Given the description of an element on the screen output the (x, y) to click on. 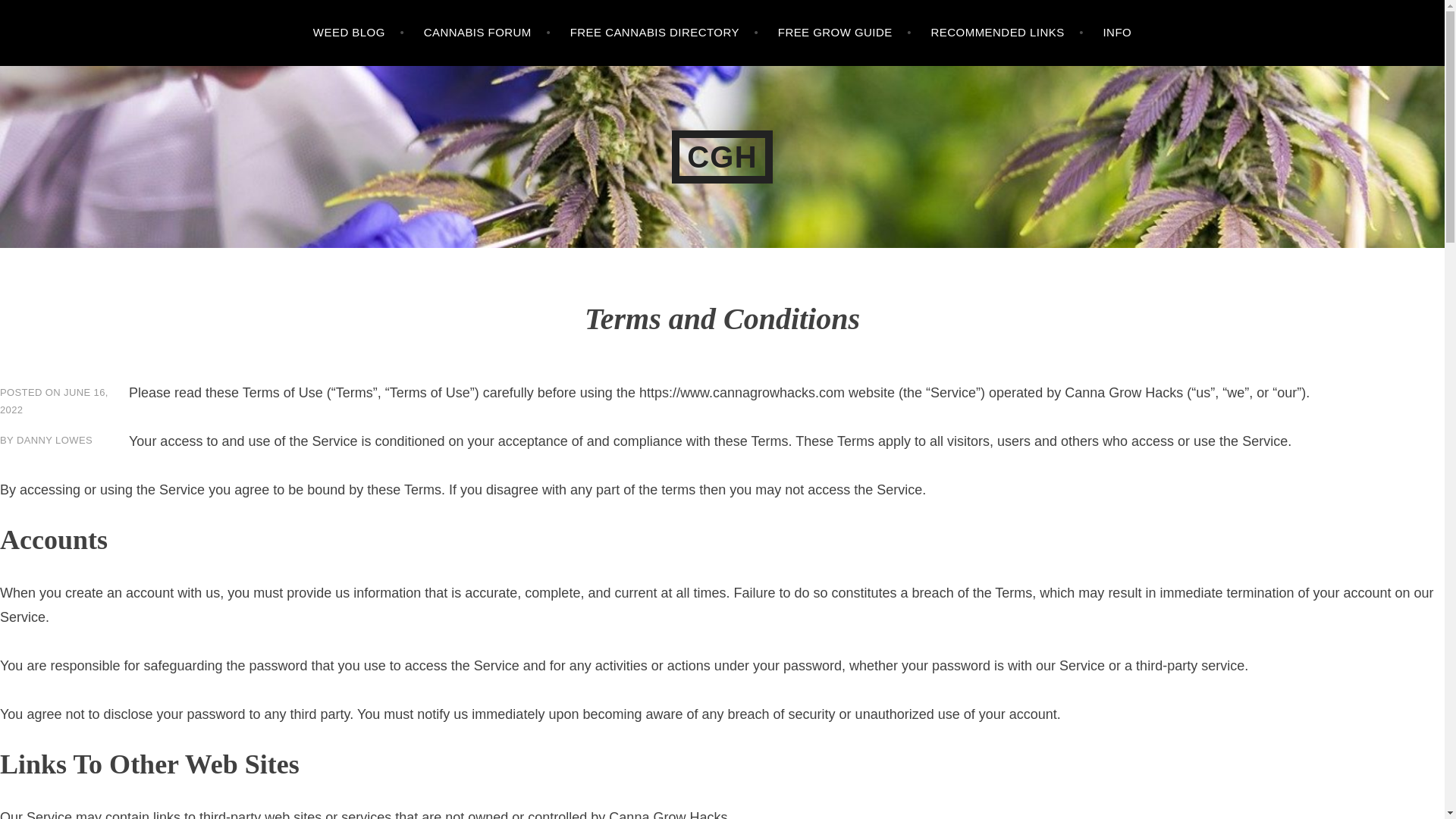
CGH (722, 156)
JUNE 16, 2022 (53, 400)
RECOMMENDED LINKS (1007, 32)
FREE CANNABIS DIRECTORY (664, 32)
CANNABIS FORUM (486, 32)
DANNY LOWES (54, 439)
WEED BLOG (358, 32)
FREE GROW GUIDE (844, 32)
